Given the description of an element on the screen output the (x, y) to click on. 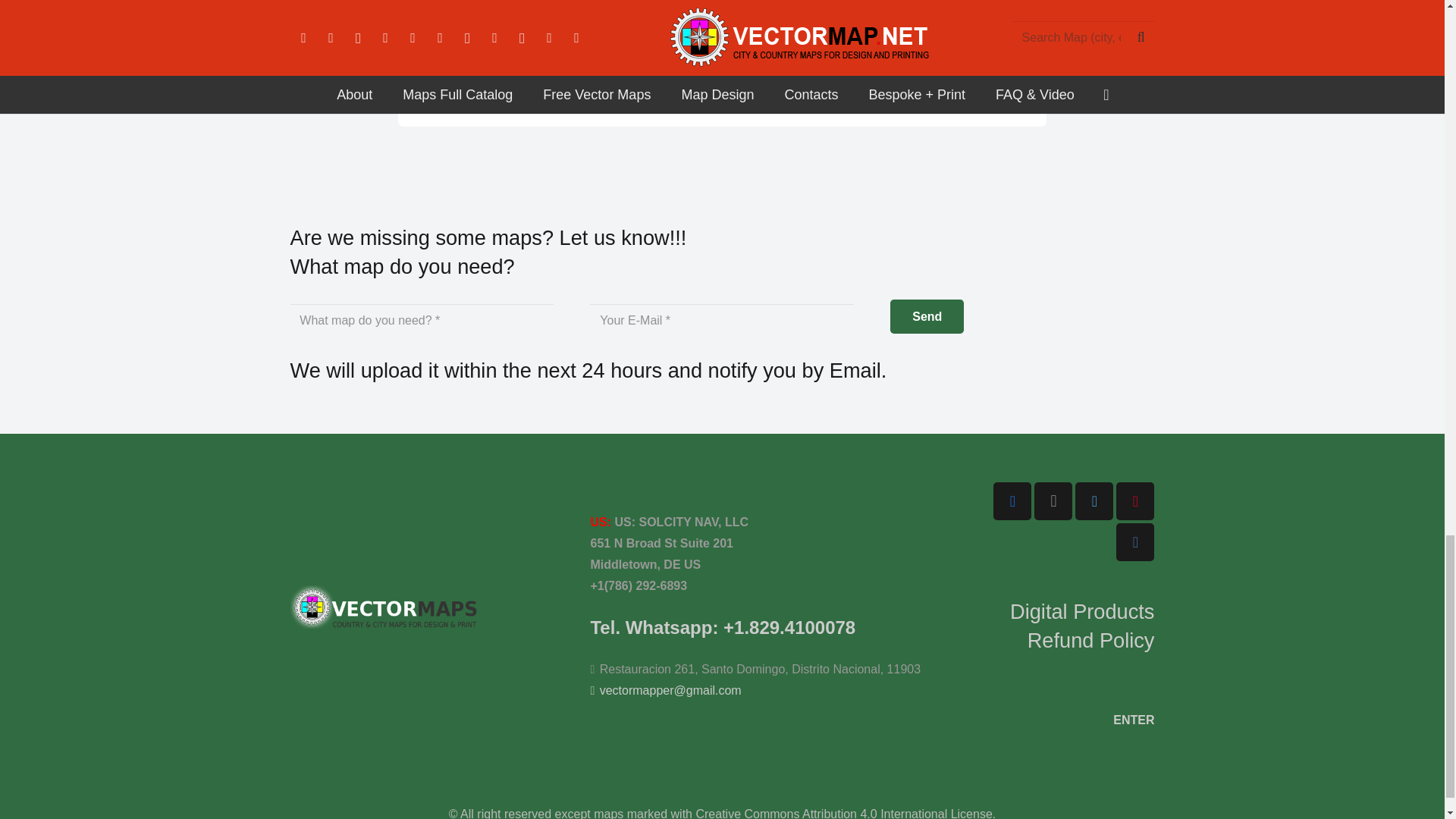
Send (926, 316)
